Given the description of an element on the screen output the (x, y) to click on. 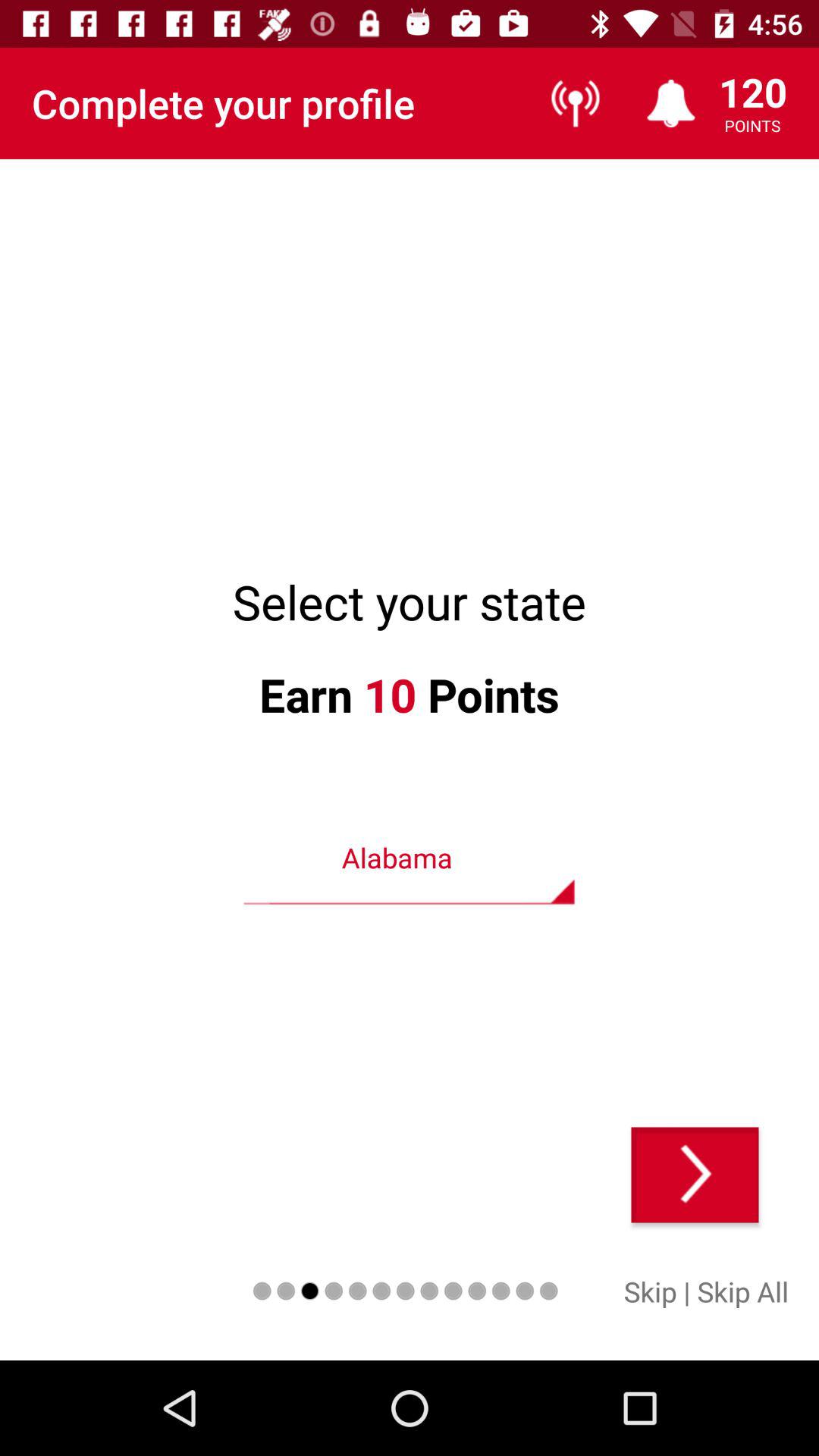
advance the page (694, 1174)
